Given the description of an element on the screen output the (x, y) to click on. 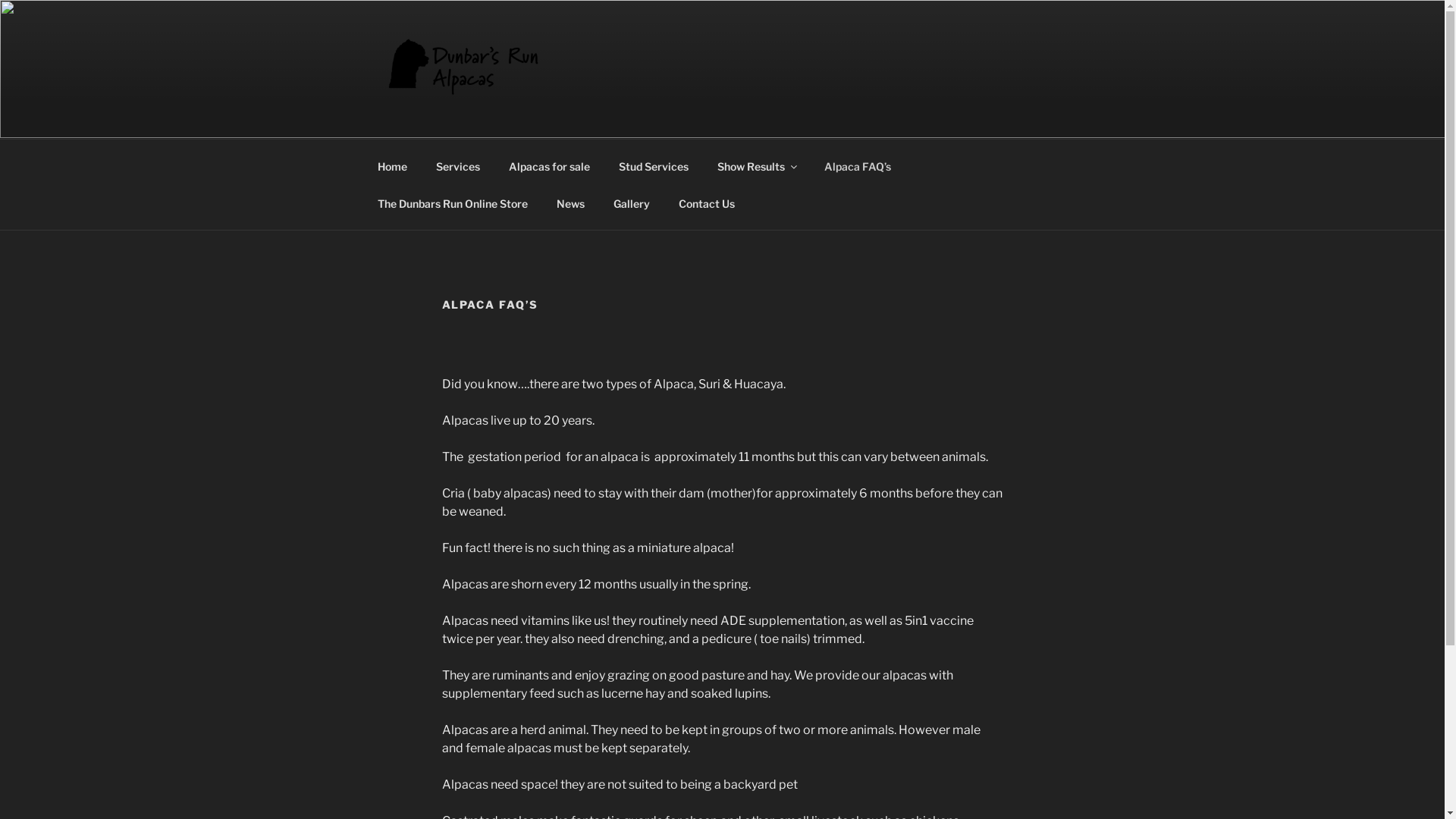
Home Element type: text (392, 165)
Alpacas for sale Element type: text (549, 165)
The Dunbars Run Online Store Element type: text (452, 203)
Stud Services Element type: text (653, 165)
Contact Us Element type: text (706, 203)
News Element type: text (569, 203)
Services Element type: text (458, 165)
Show Results Element type: text (755, 165)
Gallery Element type: text (631, 203)
